Given the description of an element on the screen output the (x, y) to click on. 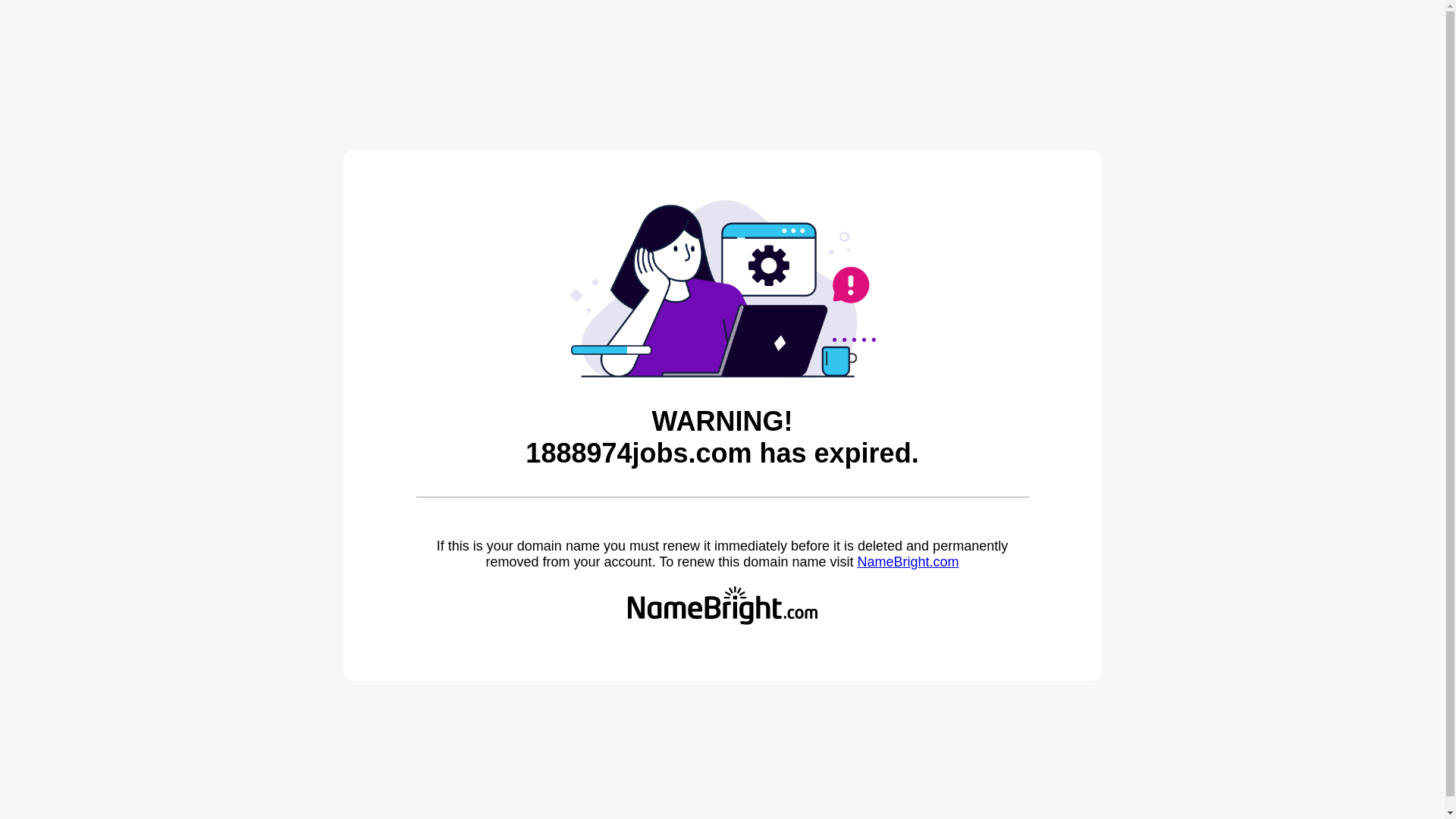
NameBright.com Element type: text (907, 561)
